Given the description of an element on the screen output the (x, y) to click on. 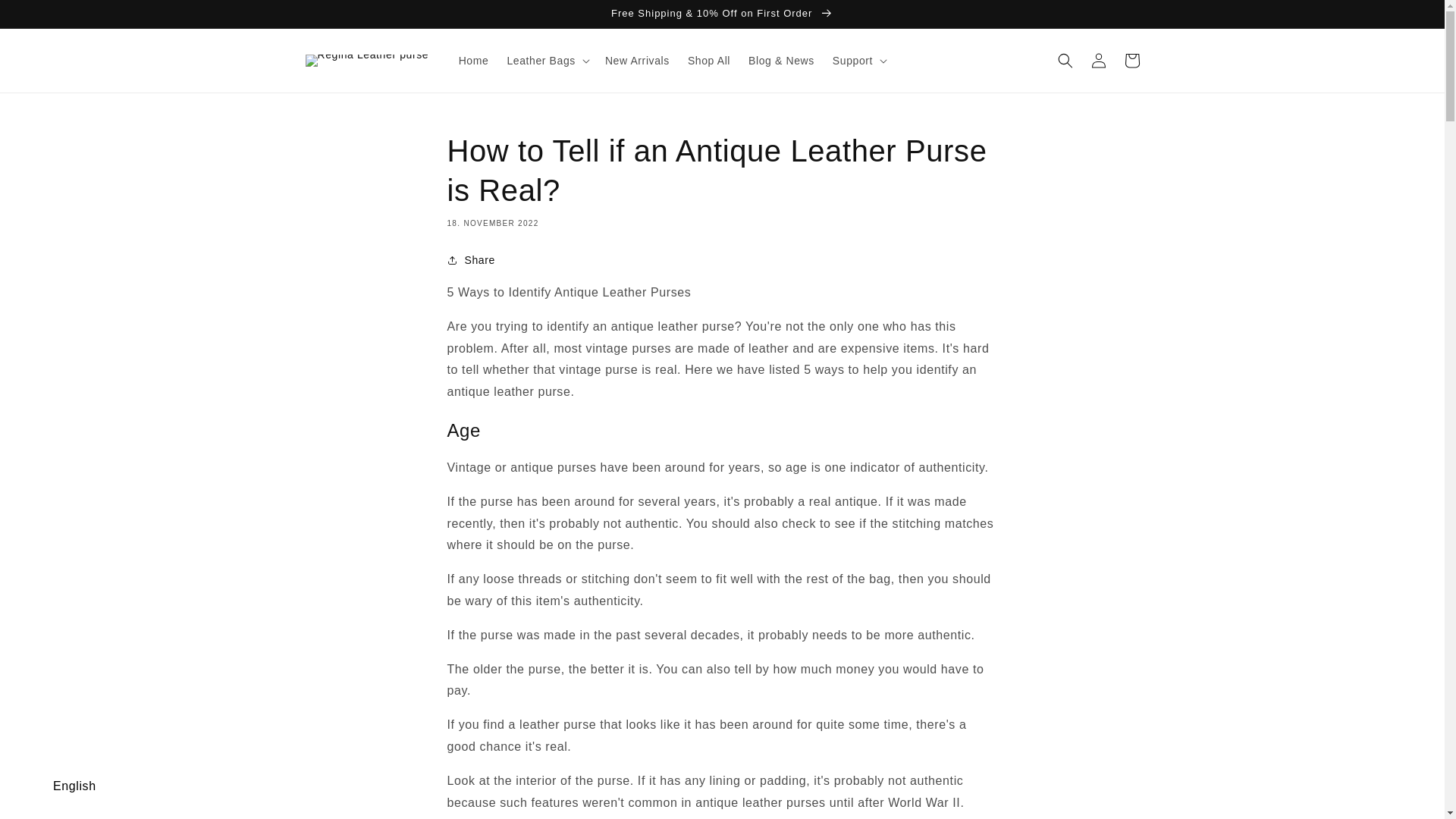
Warenkorb (1131, 60)
Direkt zum Inhalt (45, 17)
Home (473, 60)
New Arrivals (636, 60)
Shop All (708, 60)
Einloggen (1098, 60)
